Given the description of an element on the screen output the (x, y) to click on. 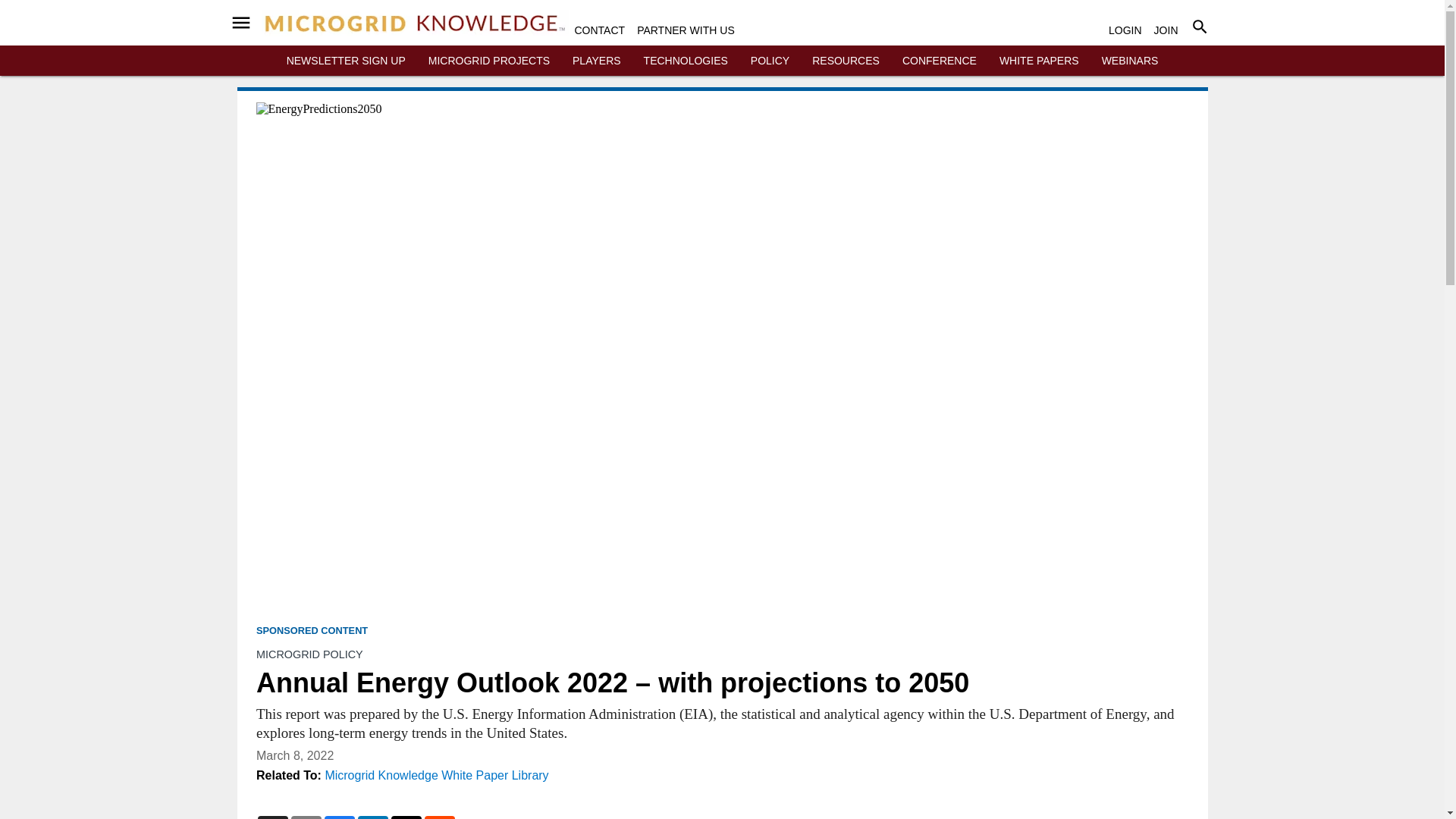
NEWSLETTER SIGN UP (346, 60)
RESOURCES (845, 60)
LOGIN (1124, 30)
CONTACT (600, 30)
PLAYERS (596, 60)
JOIN (1165, 30)
WEBINARS (1130, 60)
WHITE PAPERS (1038, 60)
CONFERENCE (939, 60)
